Given the description of an element on the screen output the (x, y) to click on. 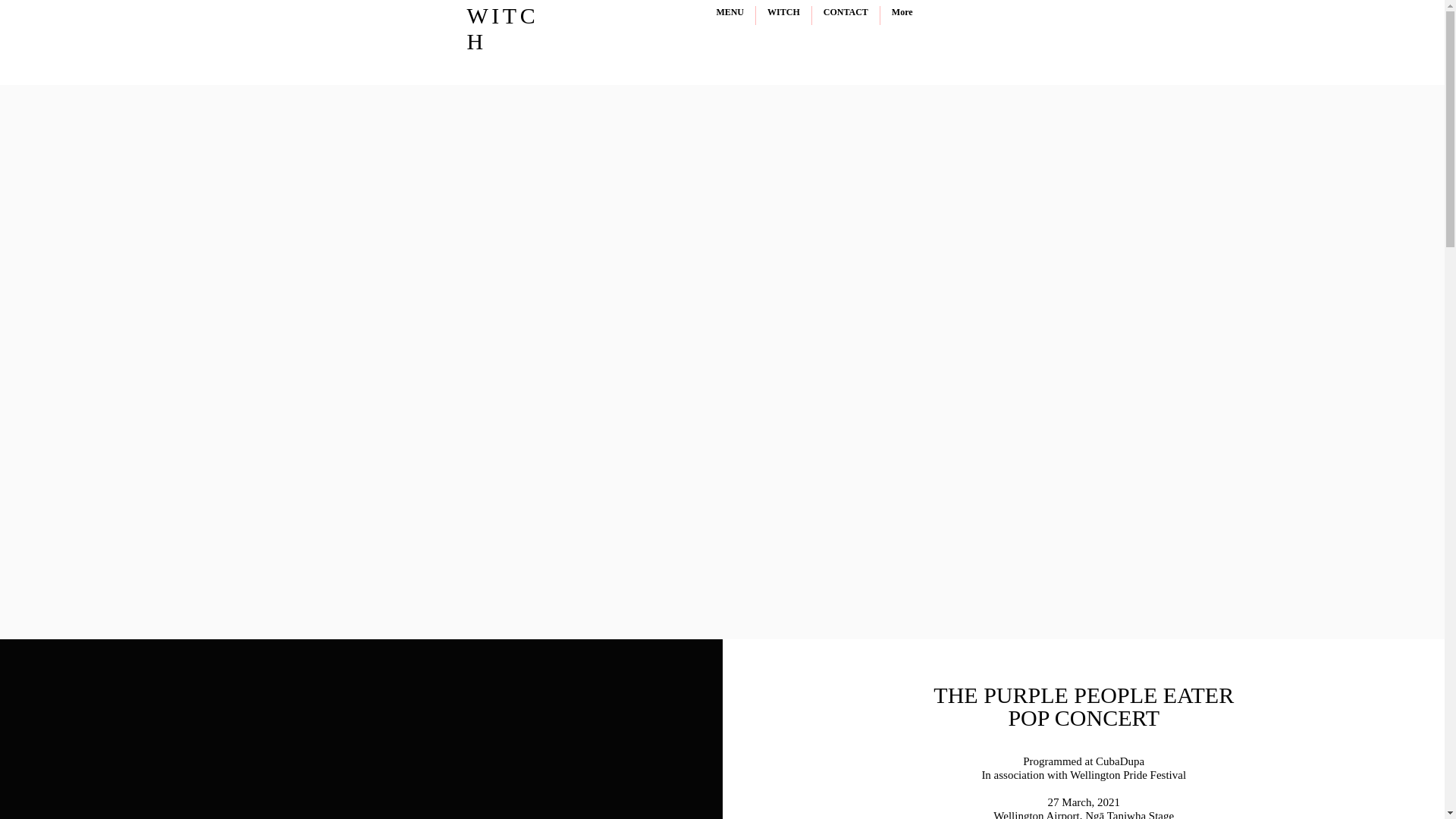
CONTACT (756, 85)
CONTACT (845, 15)
WITCH (689, 85)
WITCH (782, 15)
WITCH (502, 28)
